Given the description of an element on the screen output the (x, y) to click on. 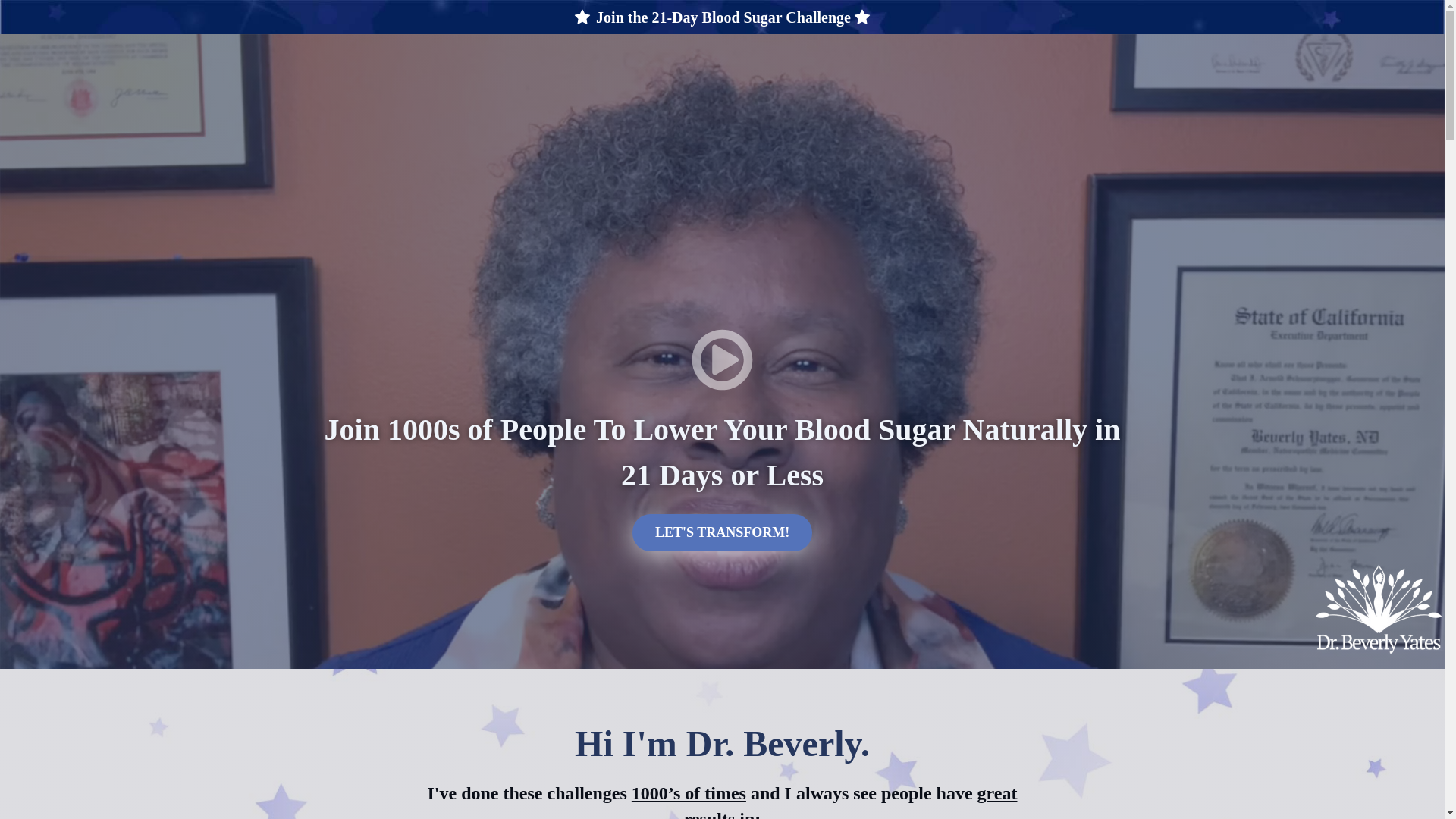
LET'S TRANSFORM! Element type: text (722, 532)
